Given the description of an element on the screen output the (x, y) to click on. 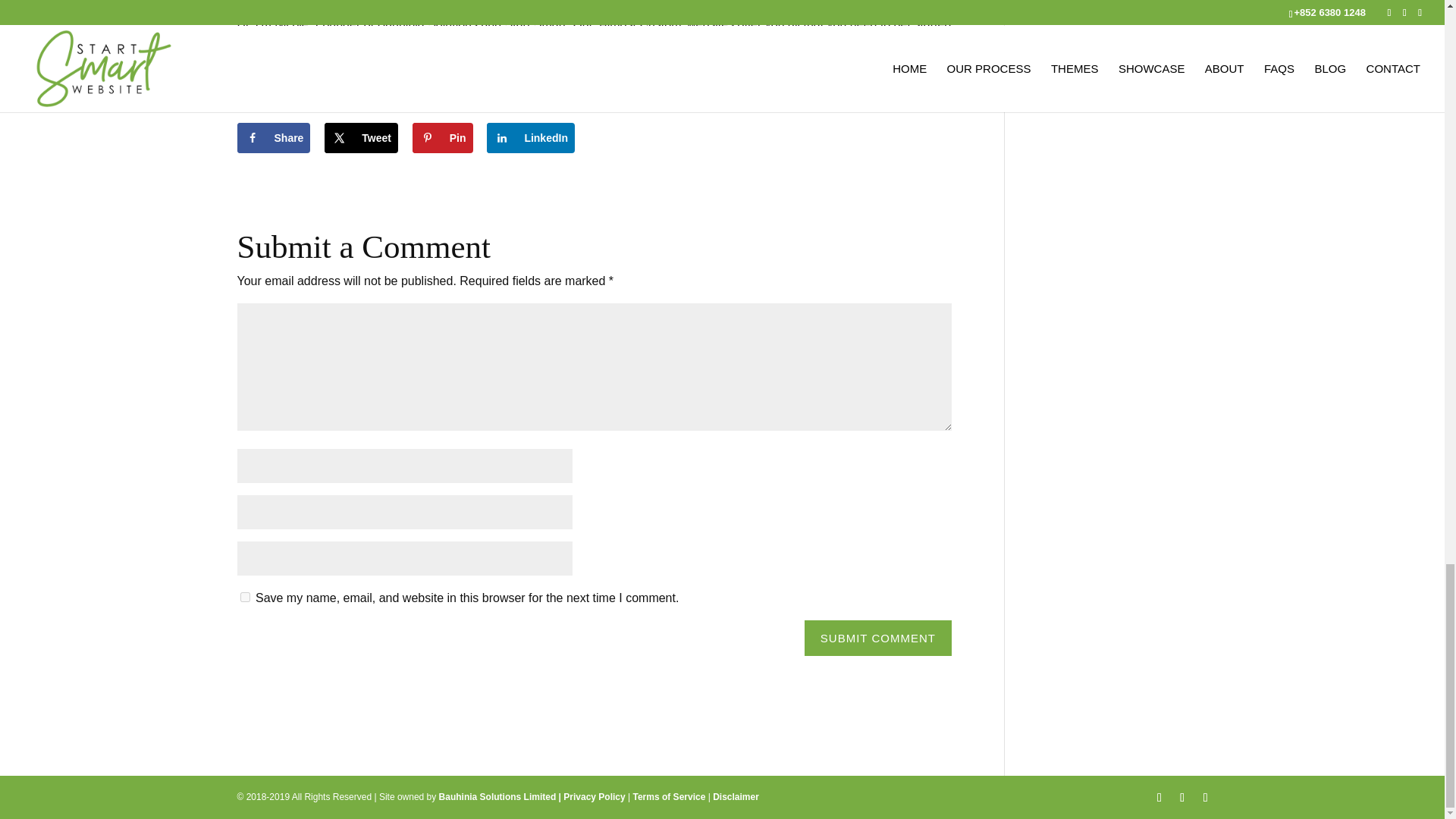
Share on X (360, 137)
Submit Comment (878, 637)
Share on LinkedIn (530, 137)
Pin (442, 137)
our Showcase page (421, 64)
Tweet (360, 137)
Share (272, 137)
our Demo page (904, 43)
Share on Facebook (272, 137)
Save to Pinterest (442, 137)
LinkedIn (530, 137)
yes (244, 596)
Submit Comment (878, 637)
